Given the description of an element on the screen output the (x, y) to click on. 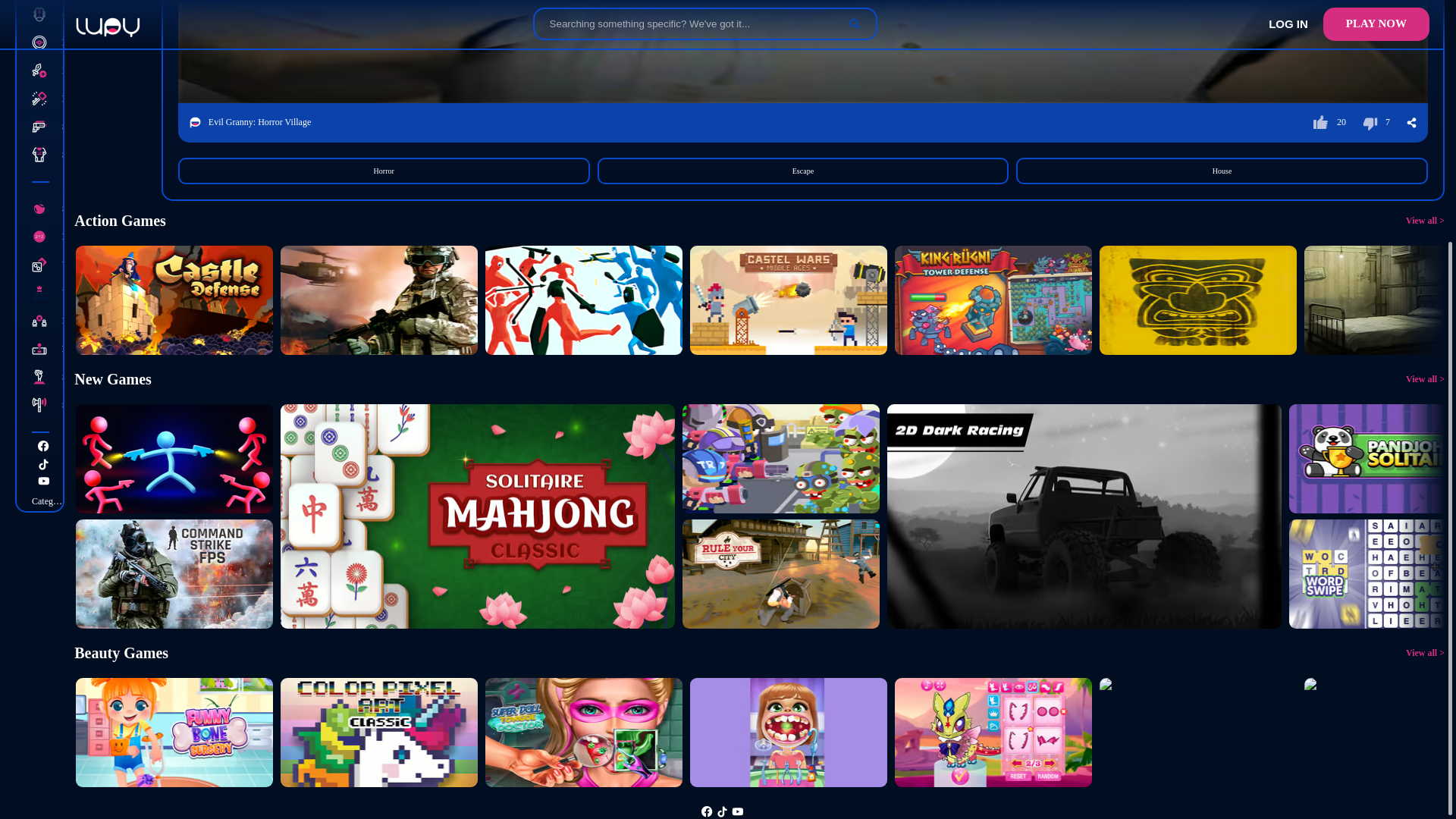
Clicker (47, 14)
Shooting (47, 126)
Multiplayer (47, 321)
IO (47, 70)
Categories (47, 500)
Math (47, 235)
Puzzle (47, 97)
Mobile (47, 348)
War Mahjong (47, 264)
Simulation (47, 376)
